Given the description of an element on the screen output the (x, y) to click on. 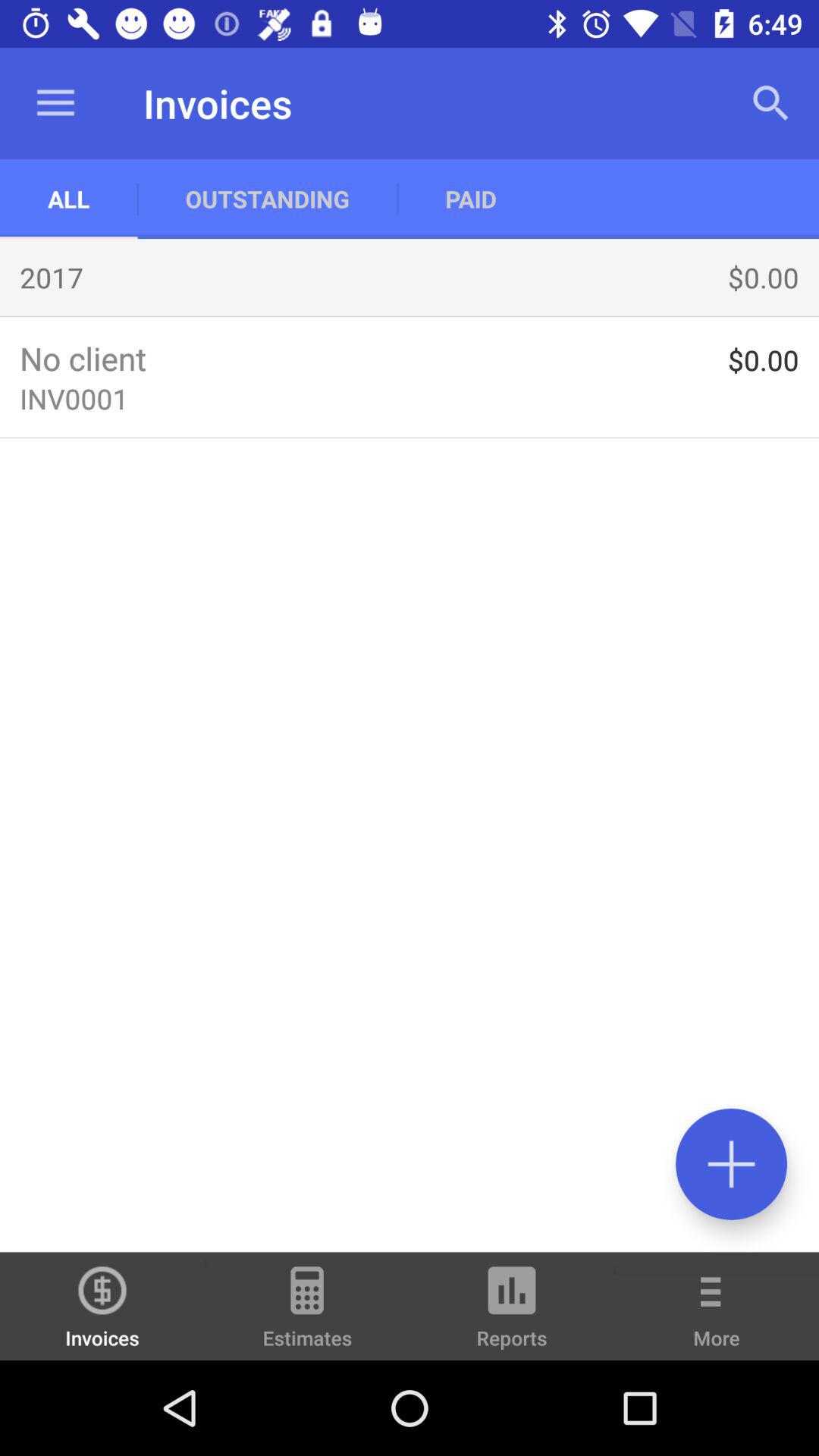
jump to the reports item (511, 1313)
